Given the description of an element on the screen output the (x, y) to click on. 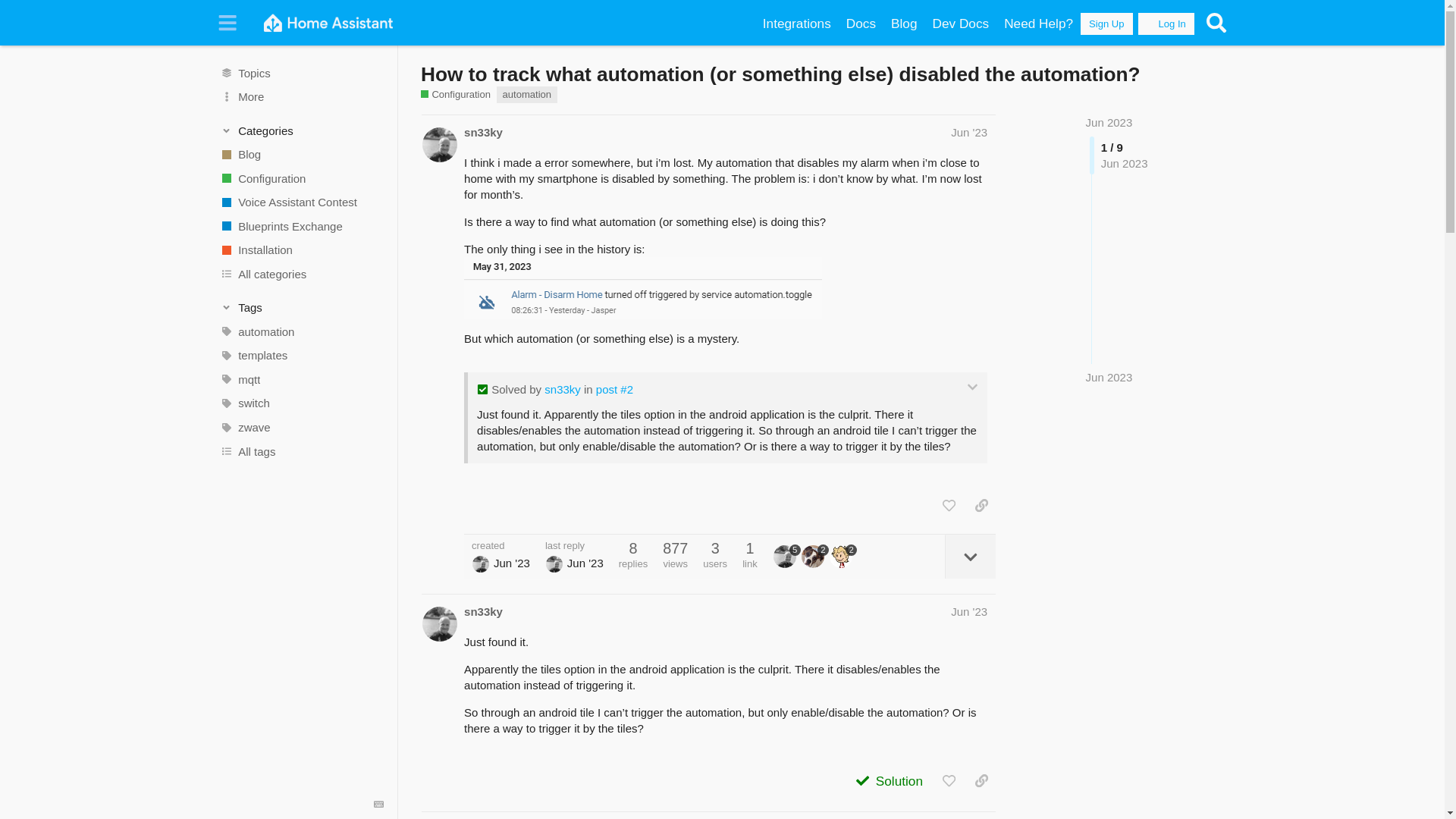
Toggle section (301, 130)
More (301, 96)
Toggle section (301, 307)
Need Help? (1037, 23)
zwave (301, 427)
Sidebar (227, 22)
Tags (301, 307)
Voice Assistant Contest (301, 202)
Configuration (301, 178)
Search (1215, 22)
All tags (301, 450)
Jun 2023 (1109, 376)
Dev Docs (960, 23)
